Given the description of an element on the screen output the (x, y) to click on. 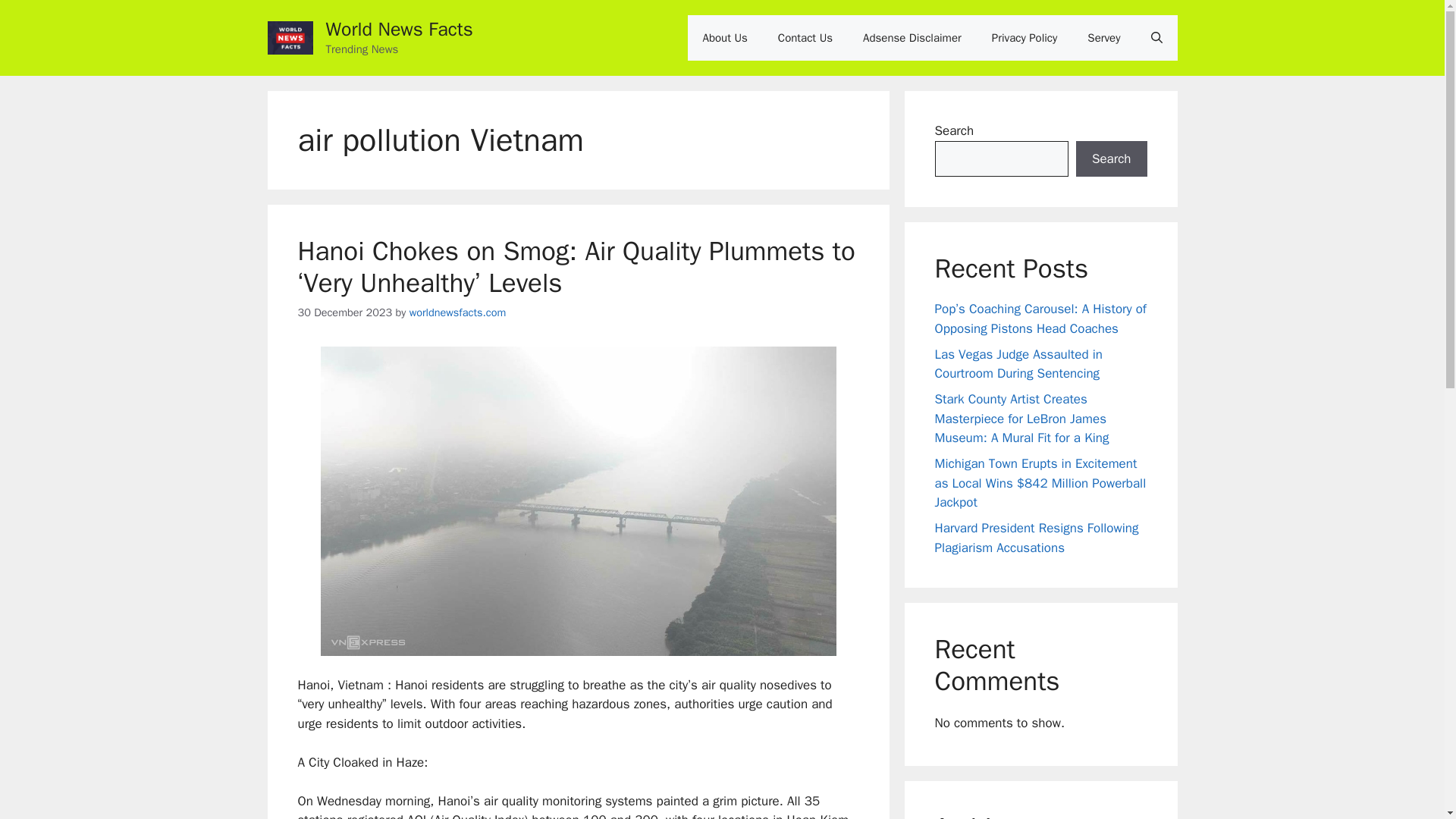
About Us (724, 37)
Adsense Disclaimer (911, 37)
Contact Us (804, 37)
Search (1111, 158)
worldnewsfacts.com (457, 312)
Servey (1103, 37)
Las Vegas Judge Assaulted in Courtroom During Sentencing (1018, 363)
Harvard President Resigns Following Plagiarism Accusations (1036, 538)
Privacy Policy (1024, 37)
World News Facts (399, 28)
View all posts by worldnewsfacts.com (457, 312)
